Given the description of an element on the screen output the (x, y) to click on. 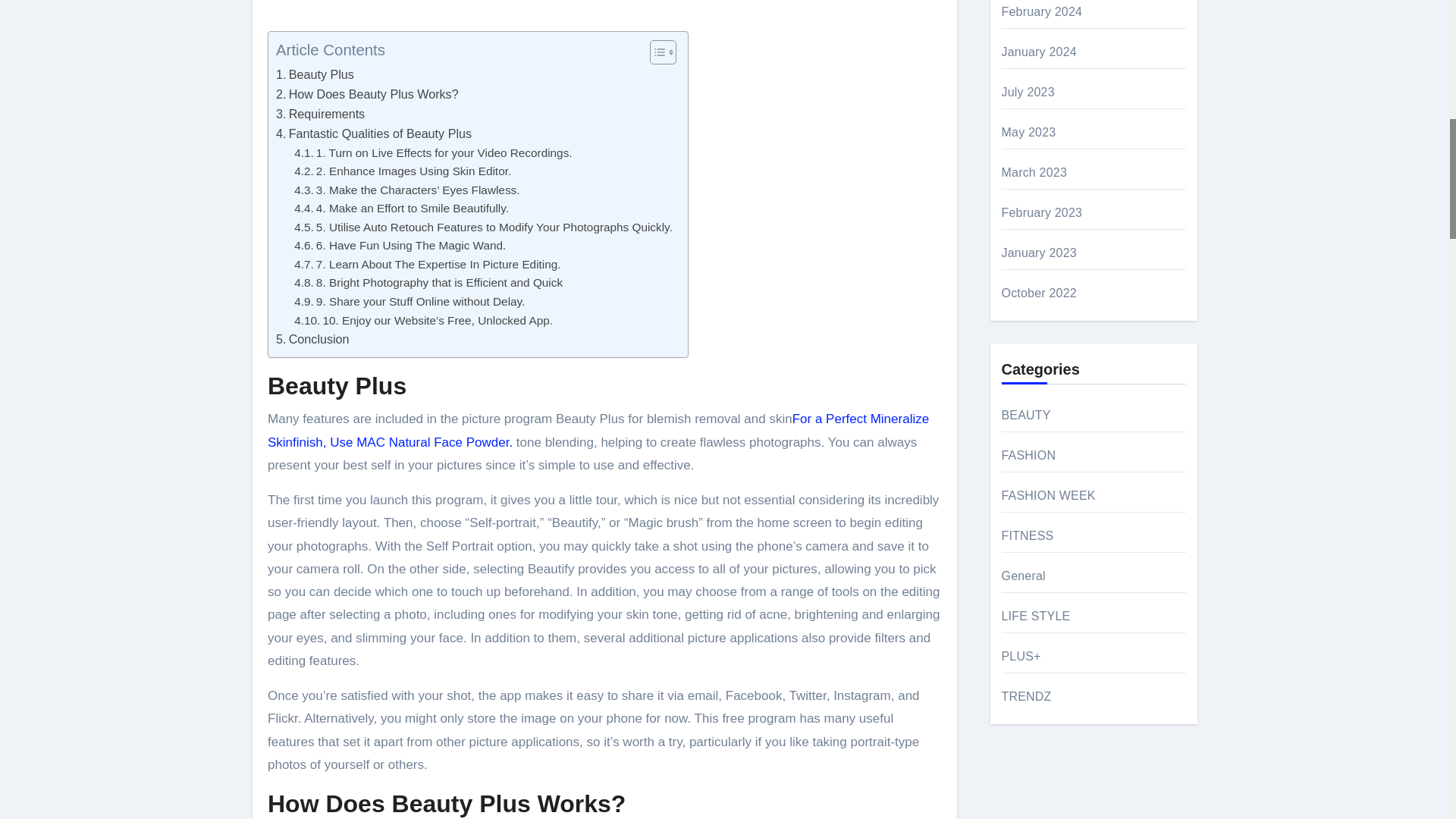
Requirements (320, 114)
8. Bright Photography that is Efficient and Quick (428, 282)
9. Share your Stuff Online without Delay. (409, 302)
4. Make an Effort to Smile Beautifully. (401, 208)
1. Turn on Live Effects for your Video Recordings. (433, 153)
Beauty Plus (314, 75)
1. Turn on Live Effects for your Video Recordings. (433, 153)
2. Enhance Images Using Skin Editor. (402, 171)
Beauty Plus (314, 75)
